Given the description of an element on the screen output the (x, y) to click on. 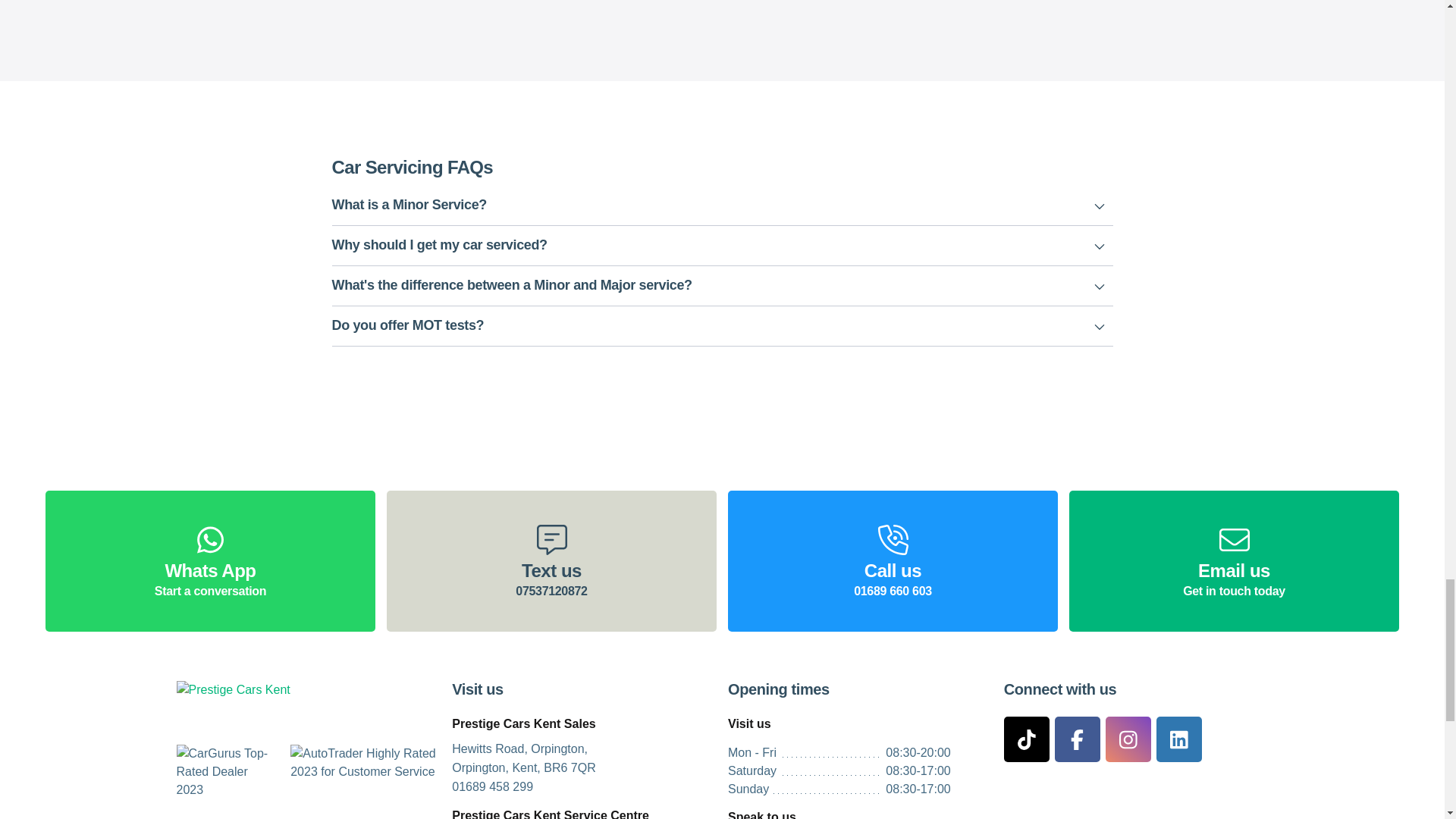
What is a Minor Service? (722, 205)
Why should I get my car serviced? (722, 246)
What's the difference between a Minor and Major service? (722, 286)
